Given the description of an element on the screen output the (x, y) to click on. 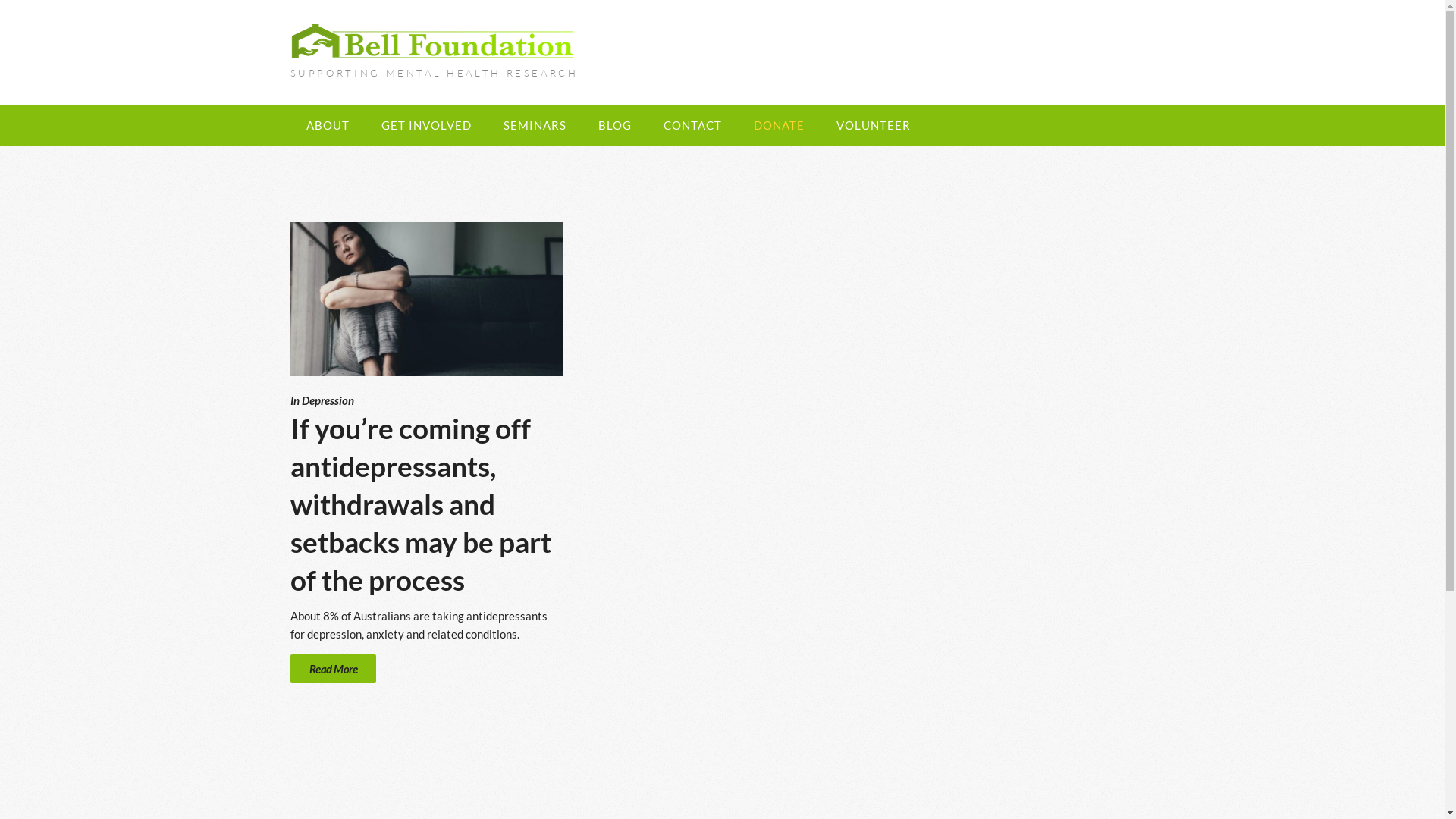
CONTACT Element type: text (692, 125)
Depression Element type: text (327, 399)
SEMINARS Element type: text (533, 125)
VOLUNTEER Element type: text (873, 125)
ABOUT Element type: text (326, 125)
    Read More     Element type: text (332, 667)
DONATE Element type: text (778, 125)
BLOG Element type: text (614, 125)
GET INVOLVED Element type: text (426, 125)
